Given the description of an element on the screen output the (x, y) to click on. 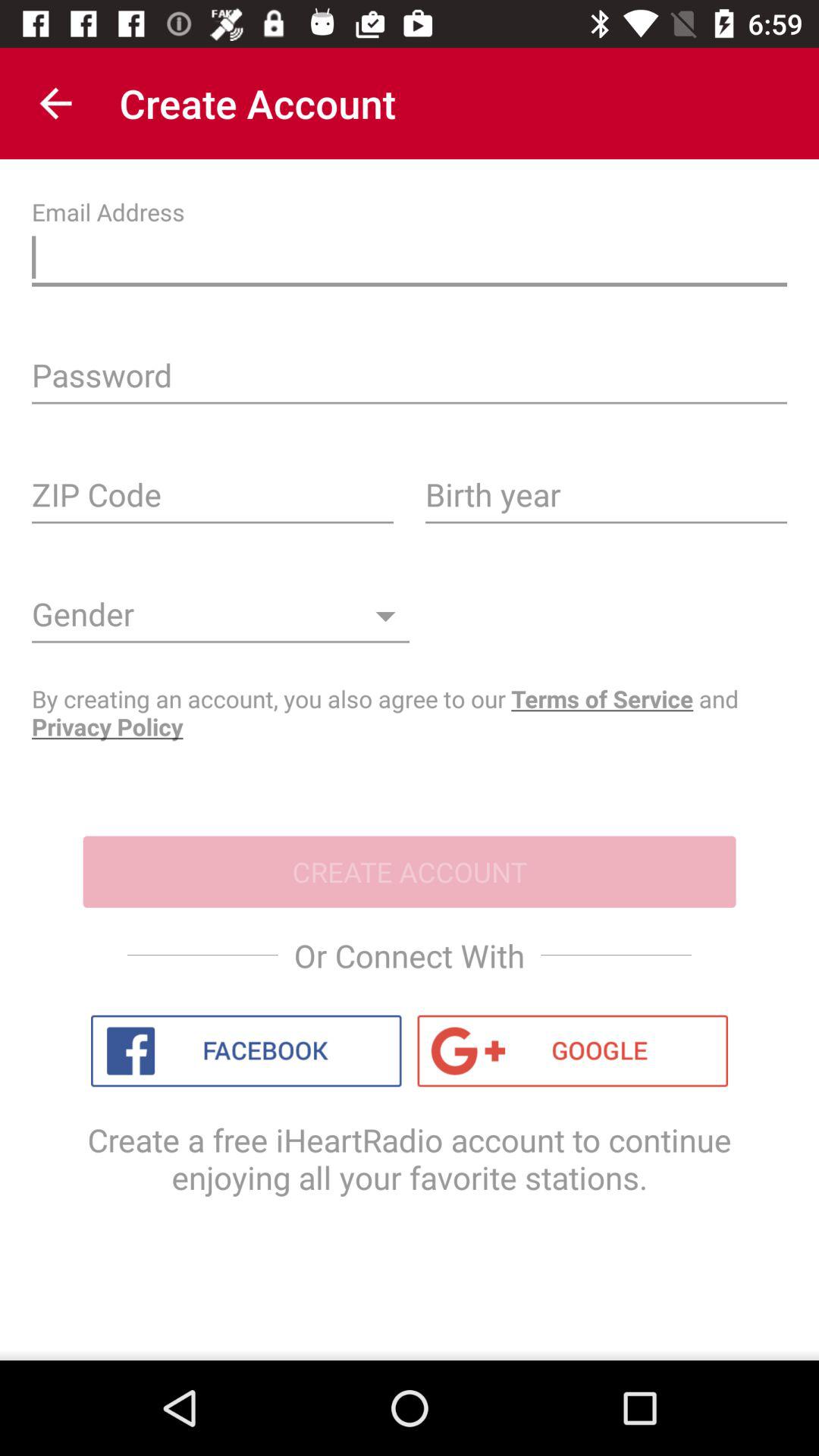
launch app to the left of the create account icon (55, 103)
